Given the description of an element on the screen output the (x, y) to click on. 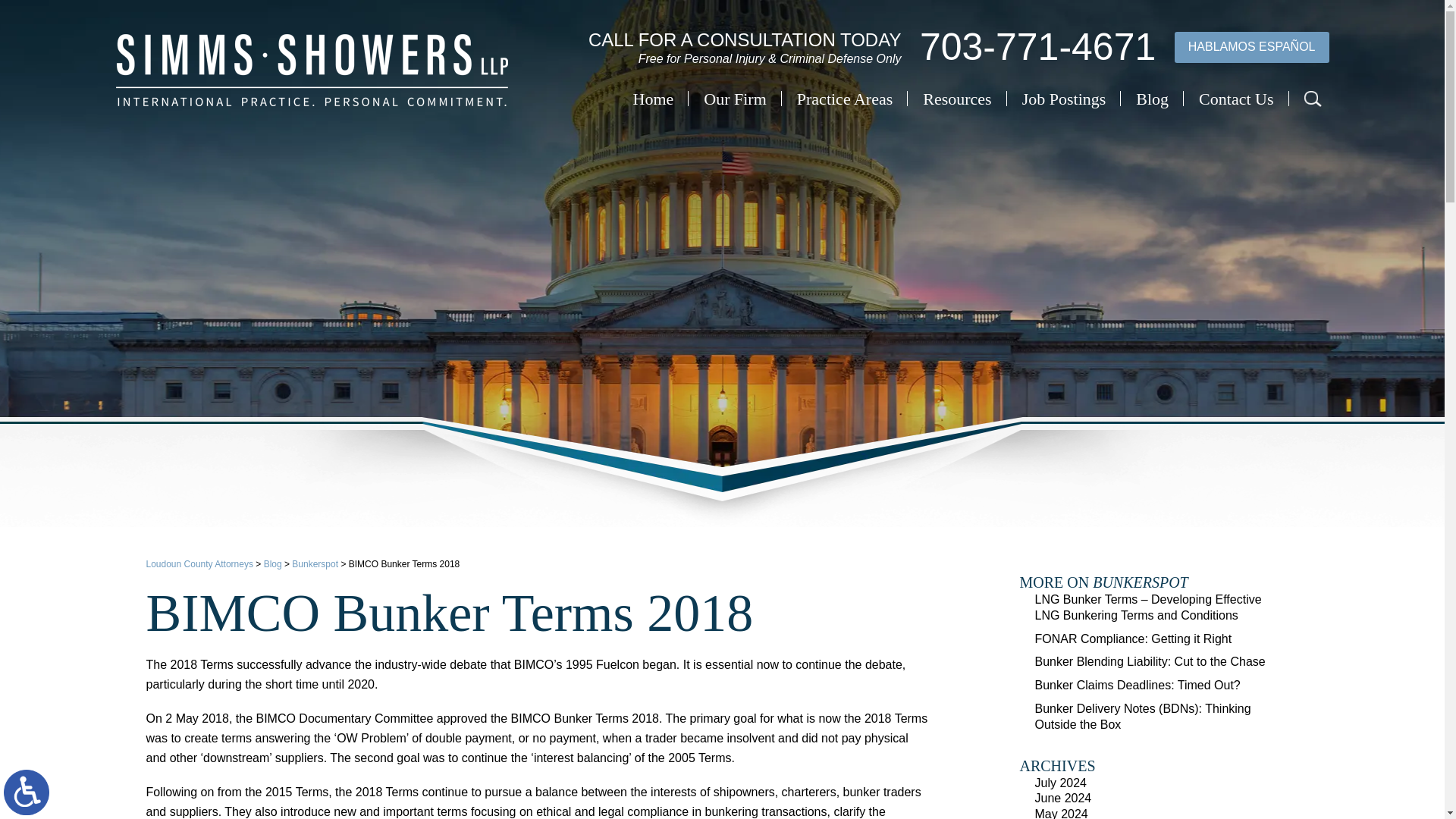
703-771-4671 (1038, 47)
Home (653, 99)
Practice Areas (844, 99)
Our Firm (734, 99)
Switch to ADA Accessible Theme (26, 791)
